Given the description of an element on the screen output the (x, y) to click on. 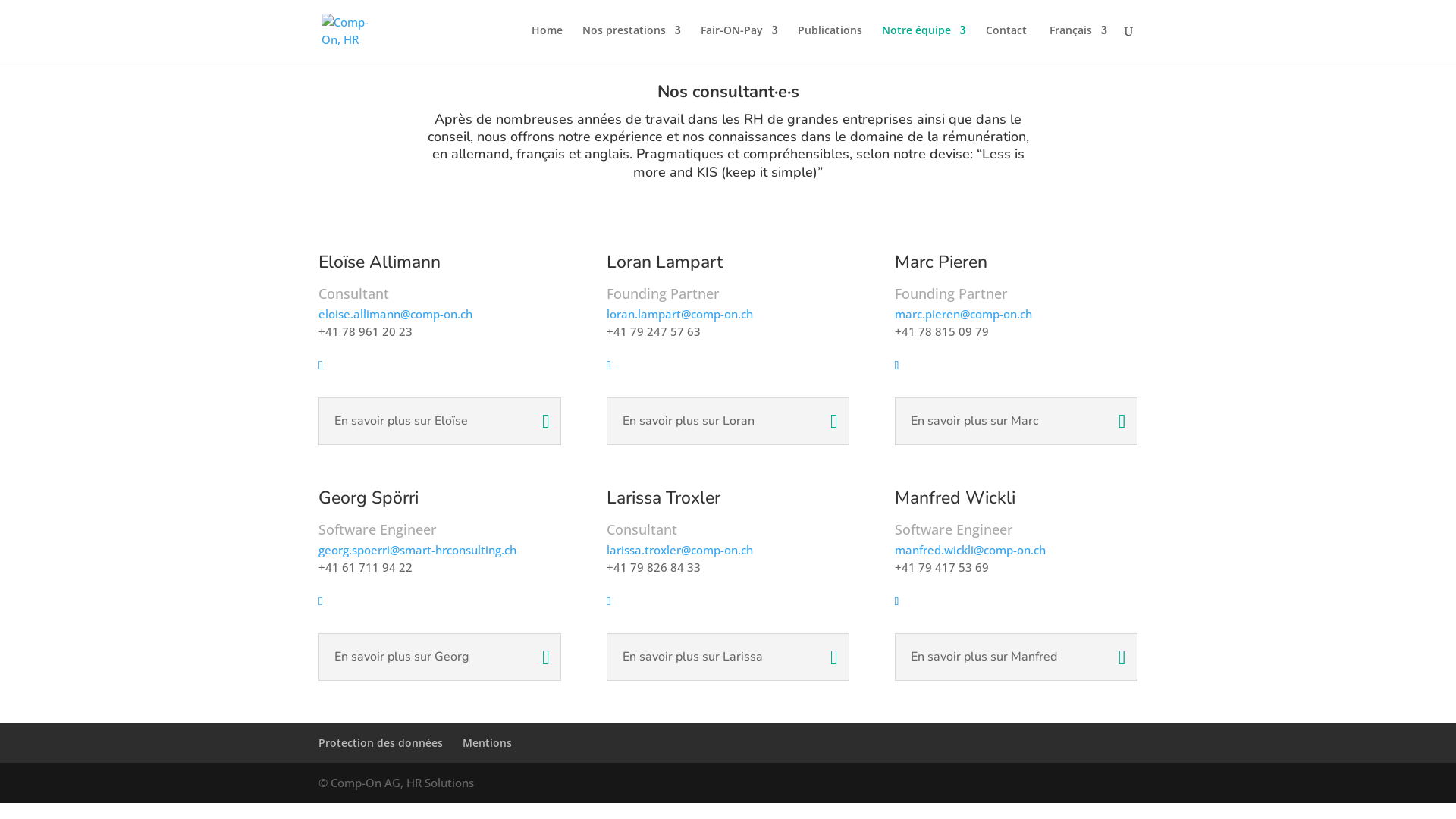
loran.lampart@comp-on.ch Element type: text (679, 313)
eloise.allimann@comp-on.ch Element type: text (395, 313)
manfred.wickli@comp-on.ch Element type: text (969, 549)
Fair-ON-Pay Element type: text (739, 42)
Contact Element type: text (1005, 42)
Publications Element type: text (829, 42)
Nos prestations Element type: text (631, 42)
larissa.troxler@comp-on.ch Element type: text (679, 549)
Mentions Element type: text (486, 742)
Home Element type: text (546, 42)
georg.spoerri@smart-hrconsulting.ch Element type: text (417, 549)
marc.pieren@comp-on.ch Element type: text (963, 313)
